Given the description of an element on the screen output the (x, y) to click on. 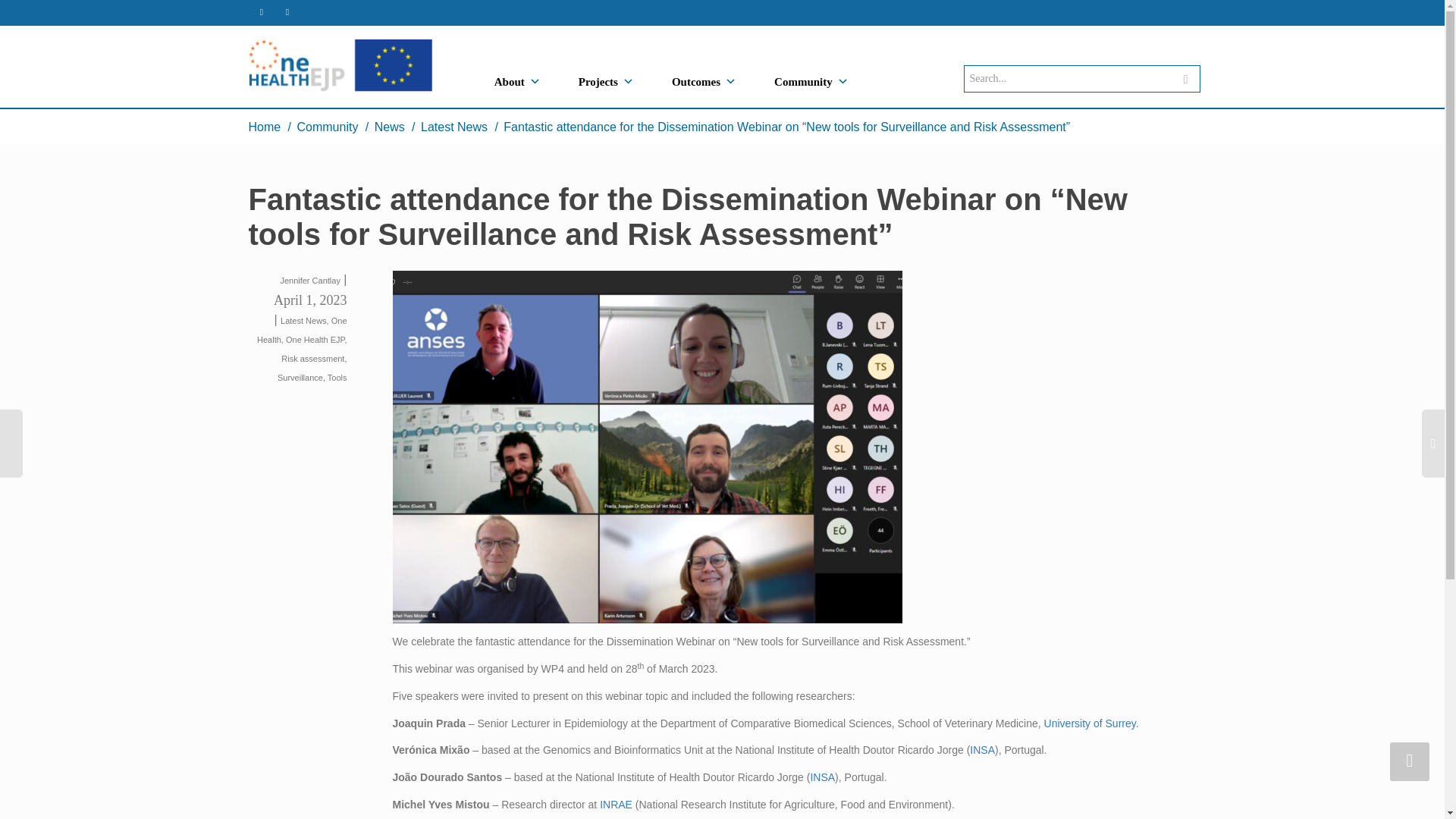
About One Health EJP (517, 81)
Latest News (453, 126)
One Health EJP (264, 126)
View all POSTS by Jennifer Cantlay (309, 280)
News (389, 126)
About (517, 81)
One Health EJP (340, 65)
Projects (606, 81)
Community (327, 126)
